Given the description of an element on the screen output the (x, y) to click on. 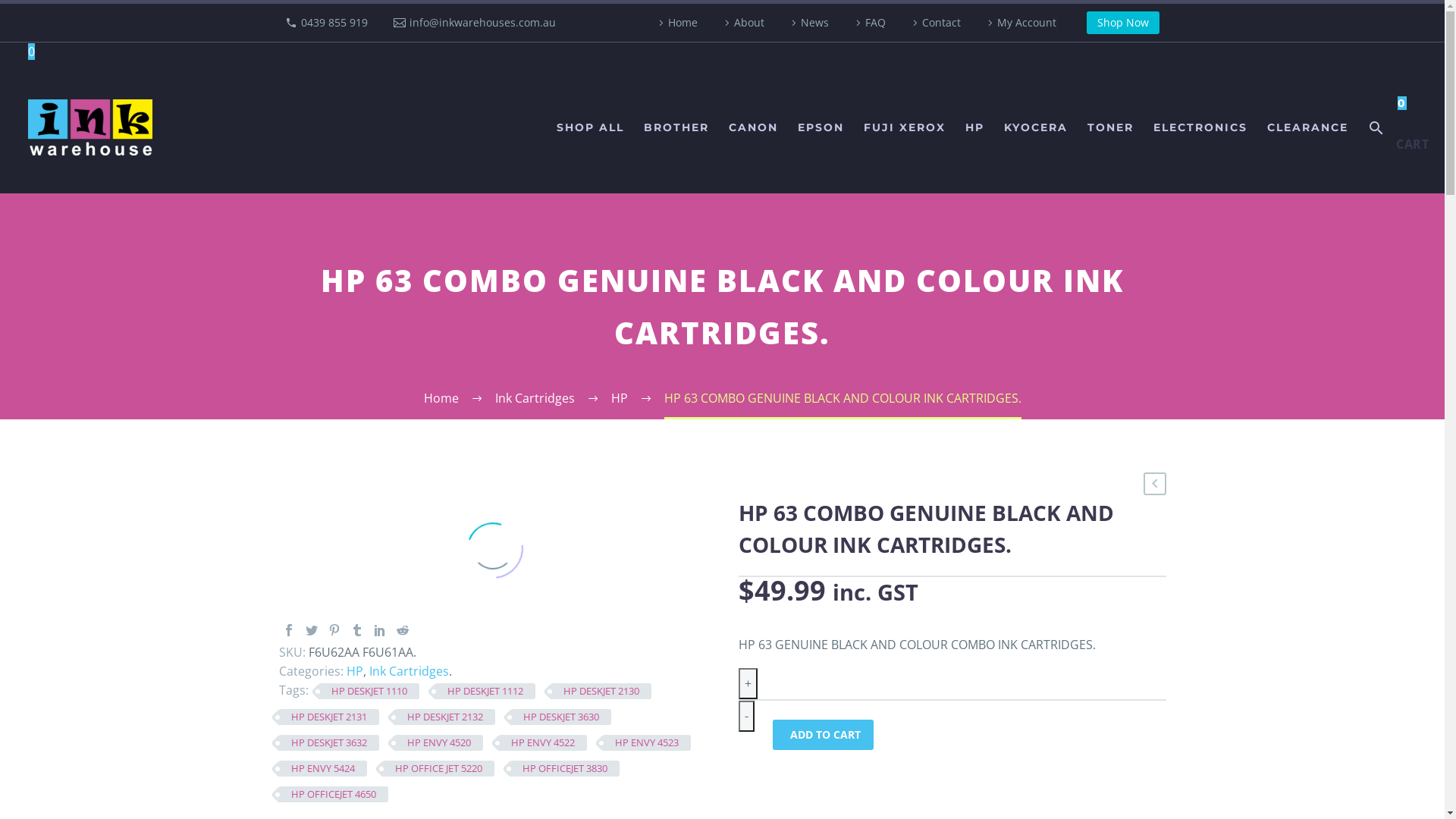
Home Element type: text (440, 397)
LinkedIn Element type: hover (379, 630)
CLEARANCE Element type: text (1307, 127)
HP OFFICE JET 5220 Element type: text (437, 768)
HP DESKJET 2131 Element type: text (329, 716)
BROTHER Element type: text (676, 127)
HP ENVY 4522 Element type: text (542, 742)
HP ENVY 4520 Element type: text (438, 742)
News Element type: text (807, 22)
CANON Element type: text (753, 127)
KYOCERA Element type: text (1035, 127)
EPSON Element type: text (820, 127)
Pinterest Element type: hover (333, 630)
info@inkwarehouses.com.au Element type: text (482, 22)
My Account Element type: text (1019, 22)
HP OFFICEJET 3830 Element type: text (563, 768)
TONER Element type: text (1110, 127)
HP DESKJET 3630 Element type: text (561, 716)
Twitter Element type: hover (310, 630)
HP Element type: text (353, 670)
Reddit Element type: hover (401, 630)
HP Element type: text (974, 127)
FUJI XEROX Element type: text (904, 127)
Ink Cartridges Element type: text (408, 670)
ELECTRONICS Element type: text (1200, 127)
- Element type: text (746, 715)
0 Element type: text (1412, 103)
HP DESKJET 2130 Element type: text (600, 691)
HP DESKJET 3632 Element type: text (329, 742)
Contact Element type: text (934, 22)
SHOP ALL Element type: text (590, 127)
0 Element type: text (31, 51)
+ Element type: text (747, 683)
HP DESKJET 1112 Element type: text (485, 691)
HP DESKJET 2132 Element type: text (444, 716)
Tumblr Element type: hover (356, 630)
Home Element type: text (675, 22)
0439 855 919 Element type: text (334, 22)
FAQ Element type: text (868, 22)
About Element type: text (742, 22)
ADD TO CART Element type: text (821, 734)
Shop Now Element type: text (1122, 22)
HP ENVY 4523 Element type: text (646, 742)
HP Element type: text (619, 397)
Facebook Element type: hover (288, 630)
HP OFFICEJET 4650 Element type: text (333, 794)
HP DESKJET 1110 Element type: text (368, 691)
HP ENVY 5424 Element type: text (323, 768)
Ink Cartridges Element type: text (534, 397)
